Given the description of an element on the screen output the (x, y) to click on. 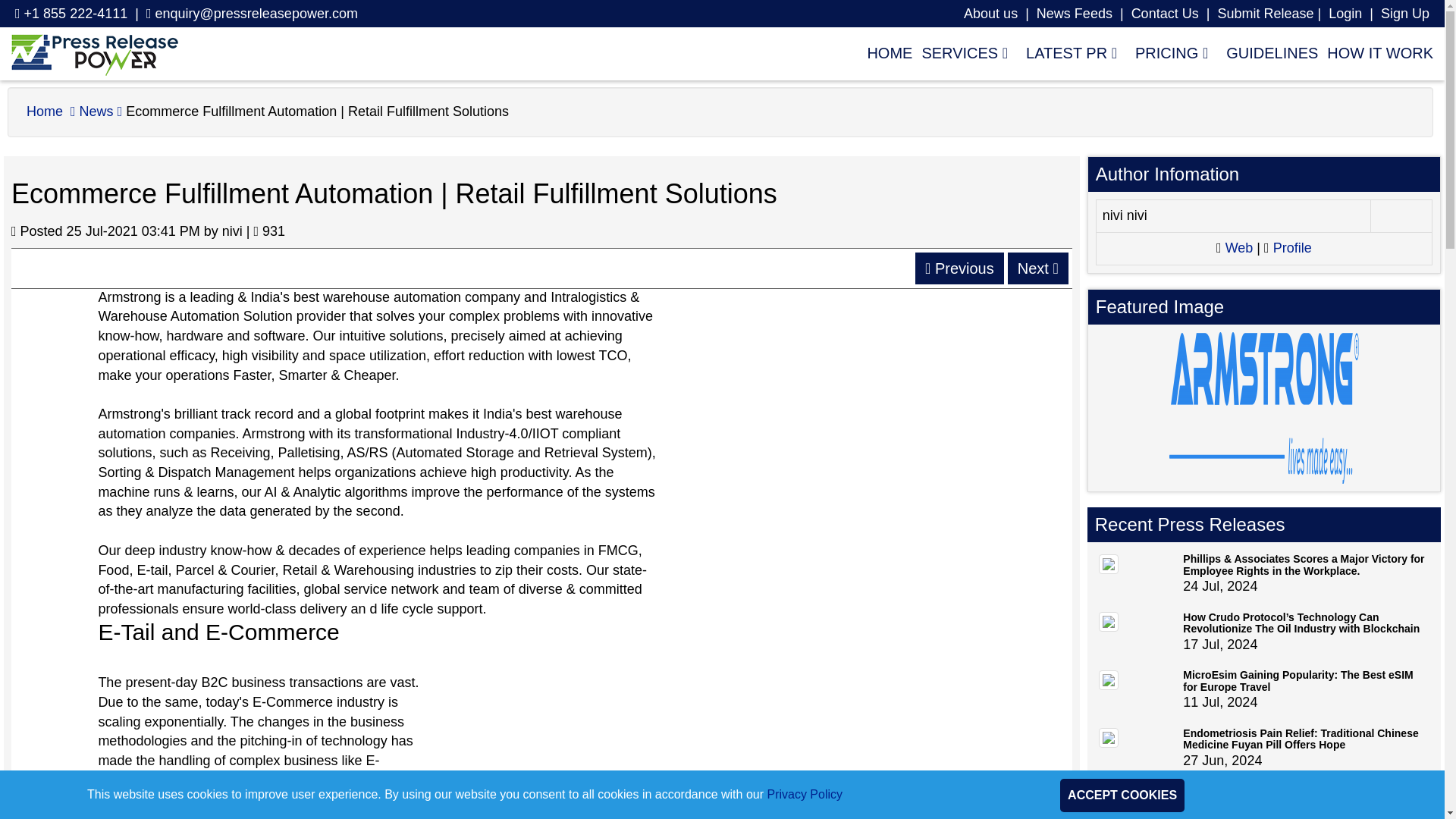
HOME (884, 52)
Contact Us (1164, 13)
LATEST PR (1070, 52)
Press Release Distribution Free (94, 53)
Submit Release (1265, 13)
GUIDELINES (1267, 52)
News Feeds (1074, 13)
Login (1344, 13)
PRICING (1171, 52)
SERVICES (964, 52)
About us (990, 13)
Login (1344, 13)
HOW IT WORK (1374, 52)
Sign Up (1404, 13)
Login (1404, 13)
